Given the description of an element on the screen output the (x, y) to click on. 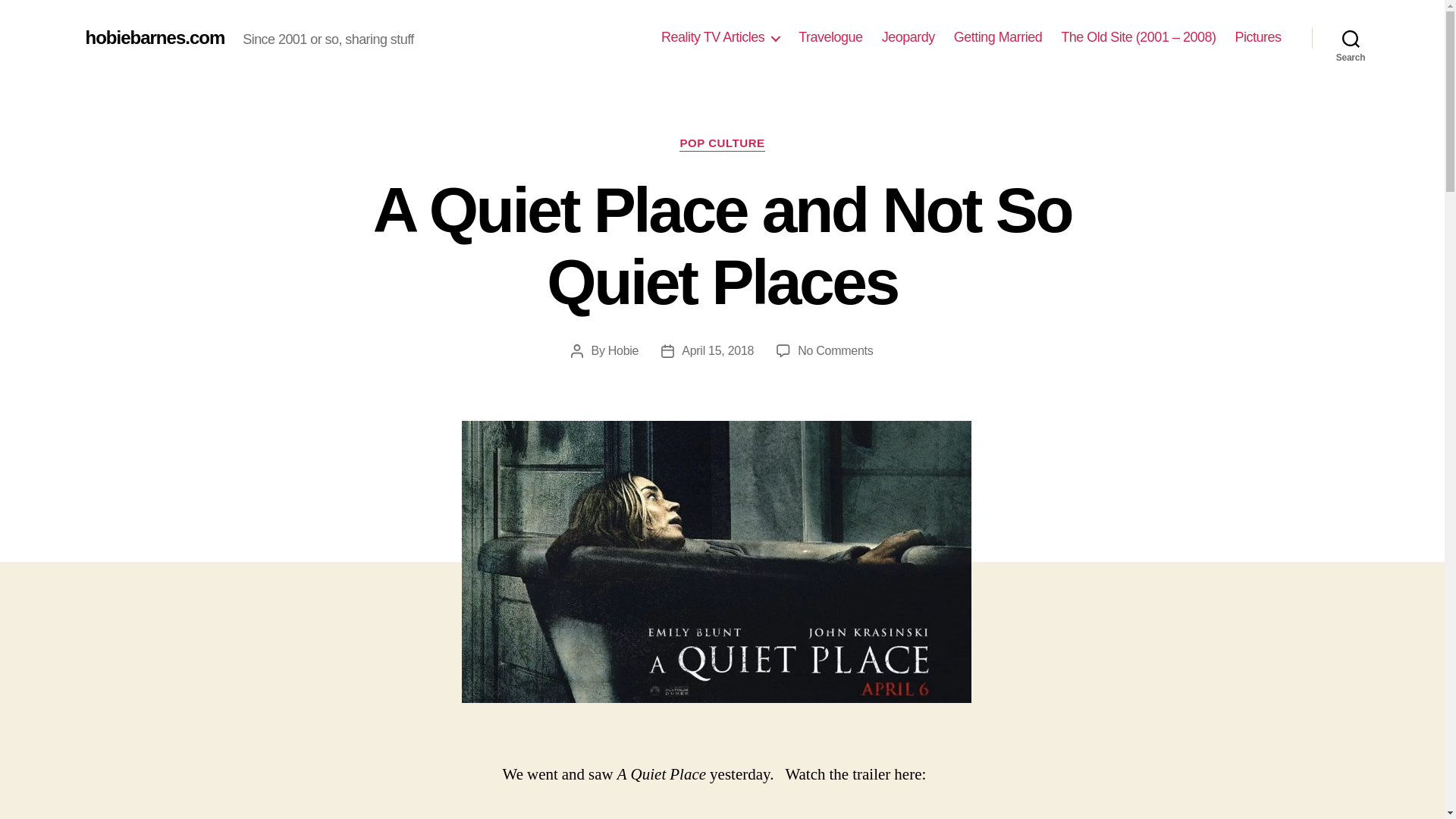
POP CULTURE (721, 143)
Hobie (834, 350)
Travelogue (623, 350)
hobiebarnes.com (829, 37)
Pictures (154, 37)
Search (1257, 37)
Reality TV Articles (1350, 37)
Getting Married (719, 37)
April 15, 2018 (997, 37)
Jeopardy (717, 350)
